Given the description of an element on the screen output the (x, y) to click on. 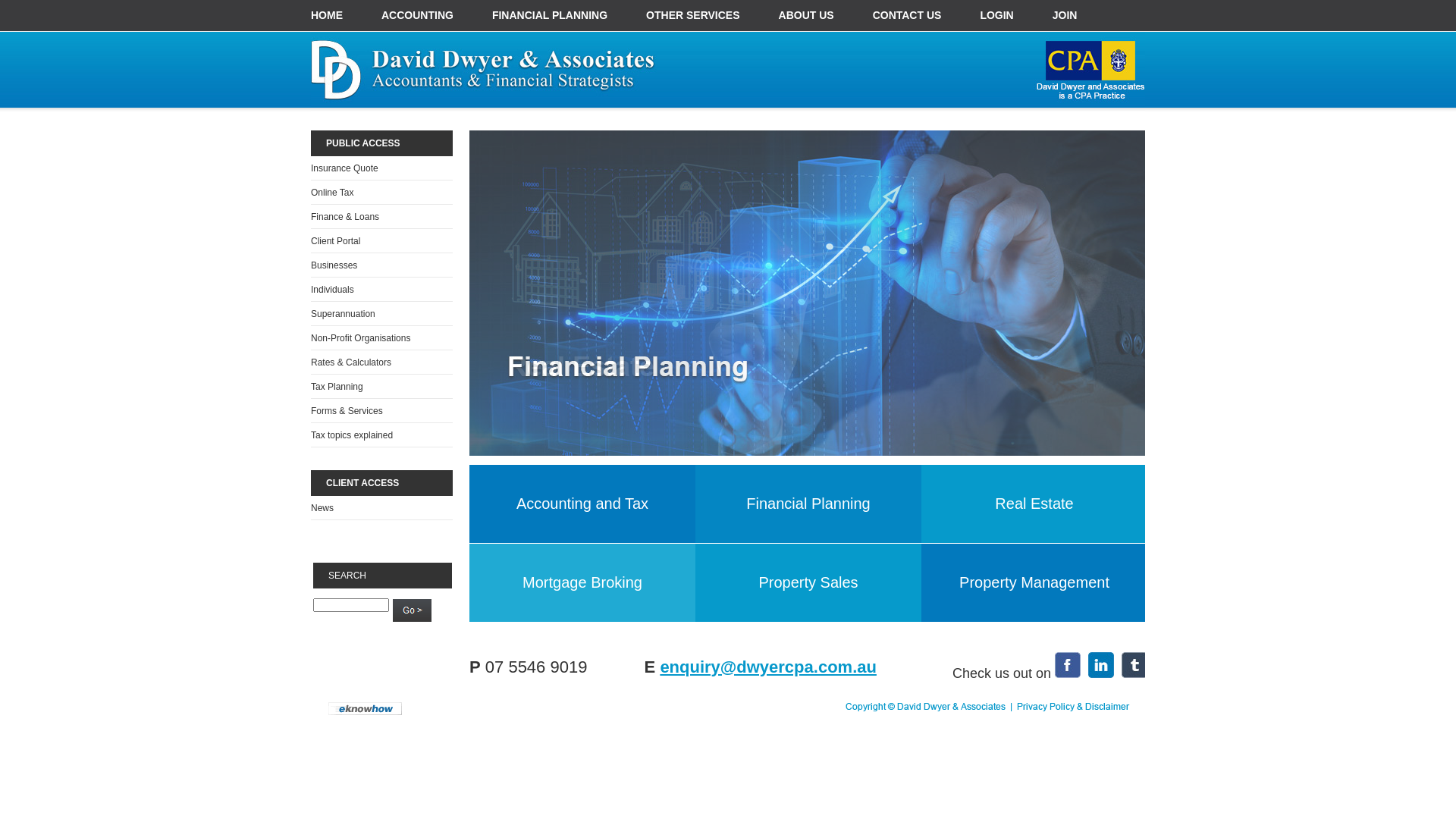
Superannuation Element type: text (342, 313)
Non-Profit Organisations Element type: text (360, 337)
JOIN Element type: text (1064, 15)
Businesses Element type: text (333, 265)
Property Management Element type: text (1034, 582)
Rates & Calculators Element type: text (350, 362)
Tax topics explained Element type: text (351, 434)
Accounting and Tax Element type: text (582, 503)
Online Tax Element type: text (331, 192)
Finance & Loans Element type: text (344, 216)
News Element type: text (321, 507)
ABOUT US Element type: text (806, 15)
Forms & Services Element type: text (346, 410)
Real Estate Element type: text (1033, 503)
Individuals Element type: text (332, 289)
Insurance Quote Element type: text (344, 168)
CONTACT US Element type: text (906, 15)
enquiry@dwyercpa.com.au Element type: text (767, 665)
Property Sales Element type: text (807, 582)
HOME Element type: text (326, 15)
LOGIN Element type: text (996, 15)
Mortgage Broking Element type: text (582, 582)
OTHER SERVICES Element type: text (692, 15)
Tax Planning Element type: text (336, 386)
FINANCIAL PLANNING Element type: text (549, 15)
ACCOUNTING Element type: text (417, 15)
Financial Planning Element type: text (807, 503)
Client Portal Element type: text (335, 240)
